Given the description of an element on the screen output the (x, y) to click on. 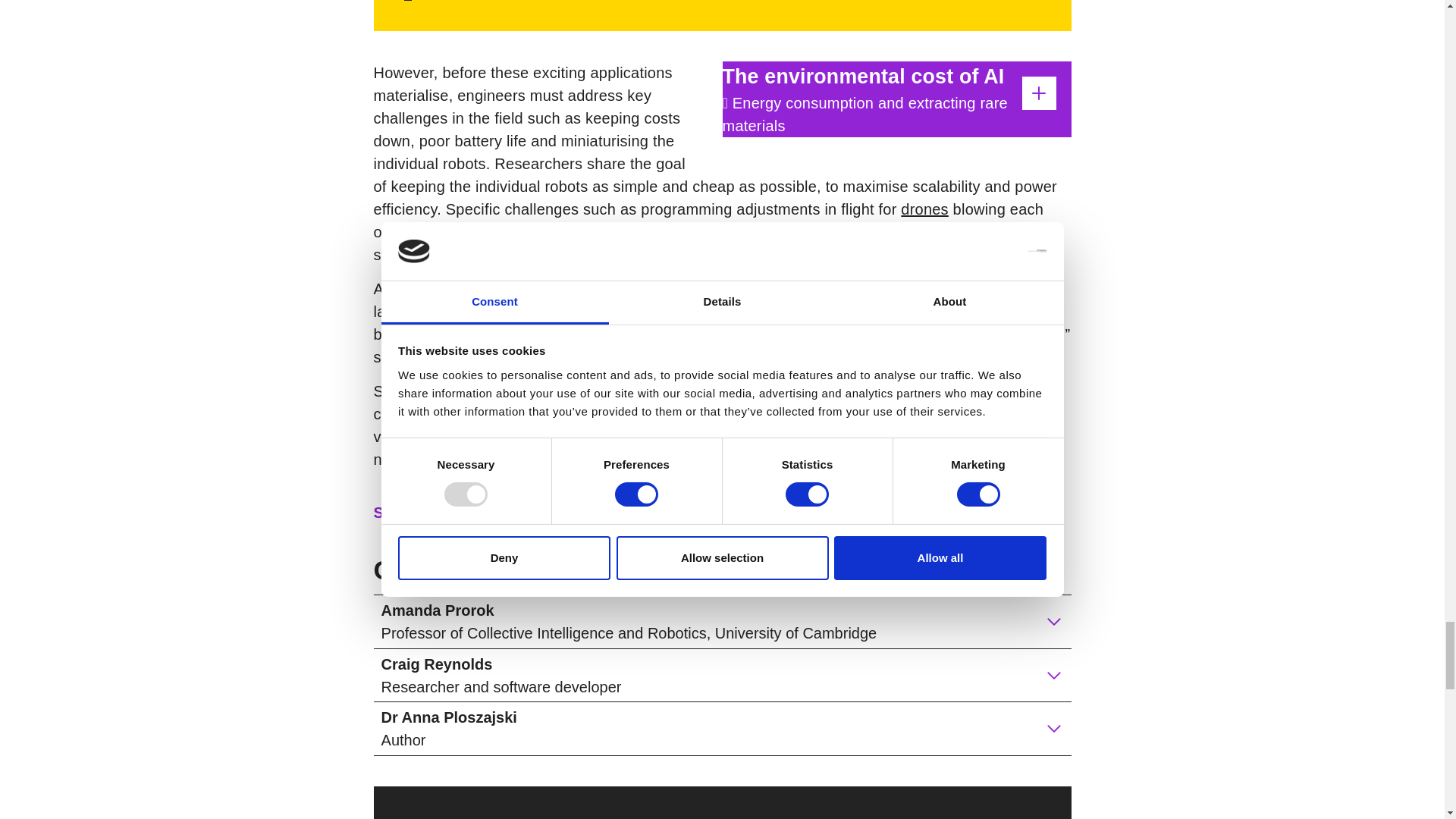
Drones (925, 208)
